Given the description of an element on the screen output the (x, y) to click on. 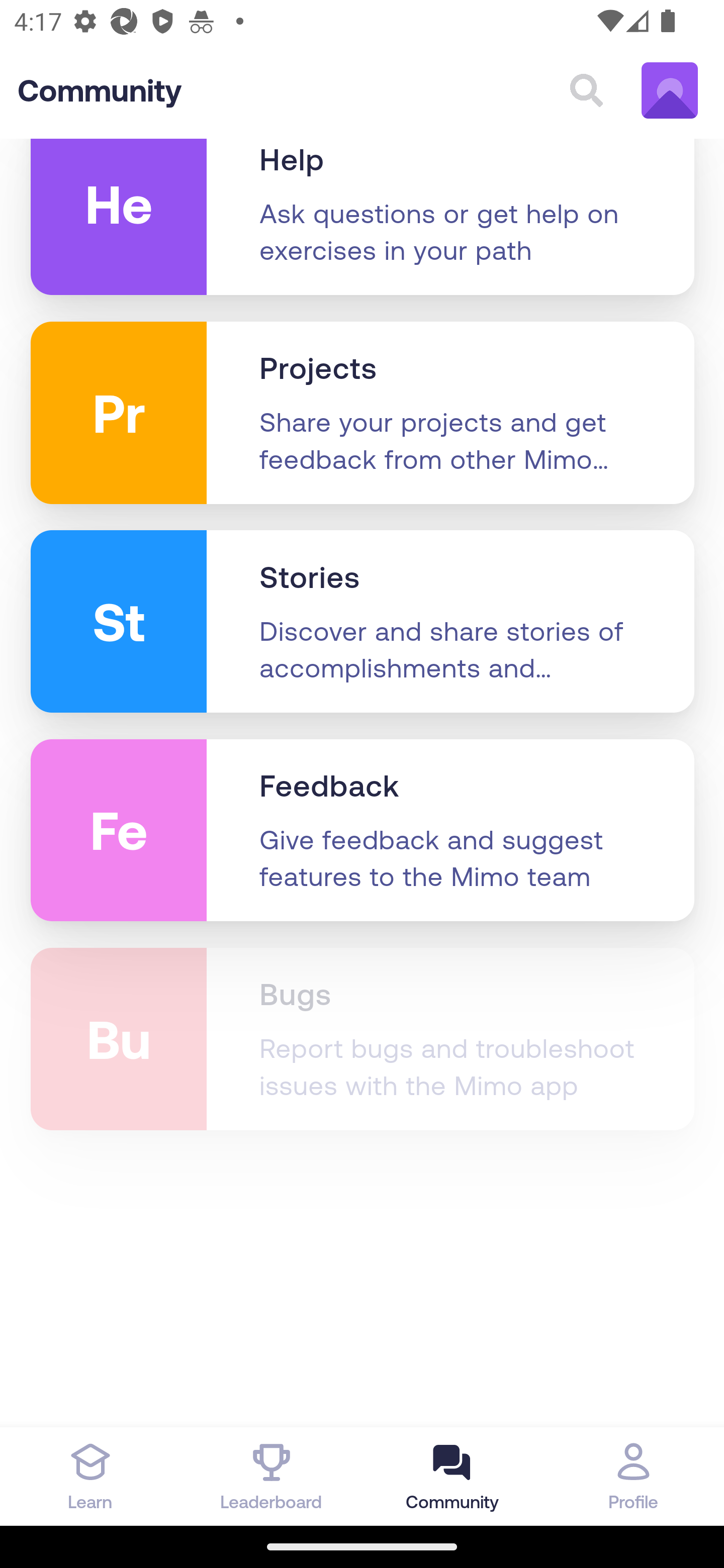
Search (586, 91)
Test Appium's account (669, 91)
Community (100, 92)
Help (291, 162)
Projects (317, 370)
Stories (309, 579)
Feedback (329, 787)
Bugs (295, 995)
Learn (90, 1475)
Leaderboard (271, 1475)
Profile (633, 1475)
